Given the description of an element on the screen output the (x, y) to click on. 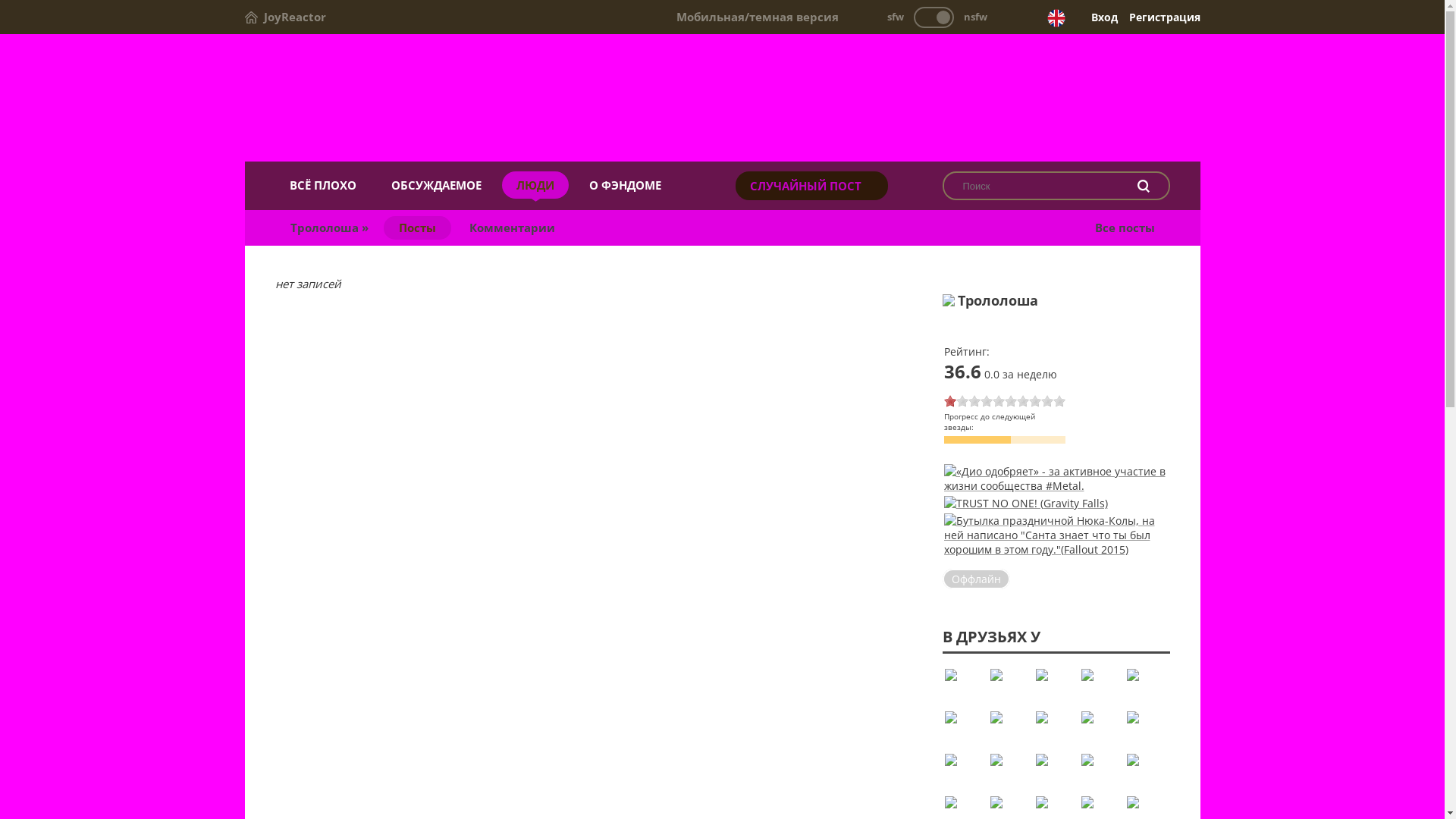
ltybcs Element type: hover (963, 770)
mumuho88 Element type: hover (1145, 685)
3eJIeHb Element type: hover (1054, 685)
abadir Element type: hover (1100, 685)
TRUST NO ONE! (Gravity Falls) Element type: hover (1024, 502)
English version Element type: hover (1055, 18)
JoyReactor Element type: text (284, 17)
G.R.I.S.H.A.X.E Element type: hover (1100, 727)
lord125 Element type: hover (1009, 727)
karbofos Element type: hover (1145, 727)
!vory Element type: hover (963, 685)
Roma_Bykov Element type: hover (1145, 770)
Catgirl (male) Element type: hover (1009, 685)
BestSaller Element type: hover (1054, 770)
Neo Element type: hover (1009, 770)
asdiky Element type: hover (963, 727)
TIMUR666 Element type: hover (1100, 770)
SoBoJId Element type: hover (1054, 727)
